Given the description of an element on the screen output the (x, y) to click on. 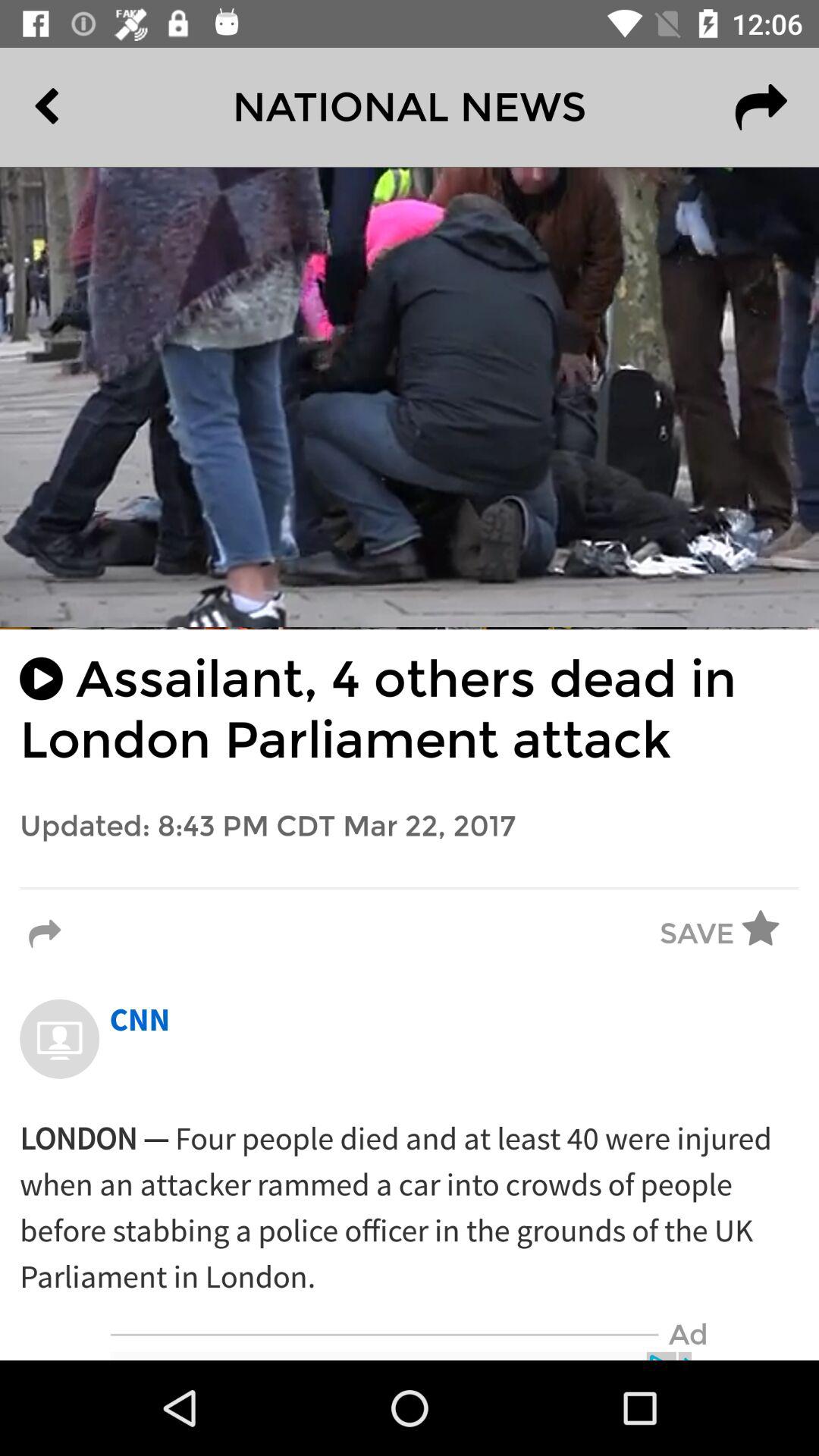
choose the assailant 4 others (409, 709)
